Given the description of an element on the screen output the (x, y) to click on. 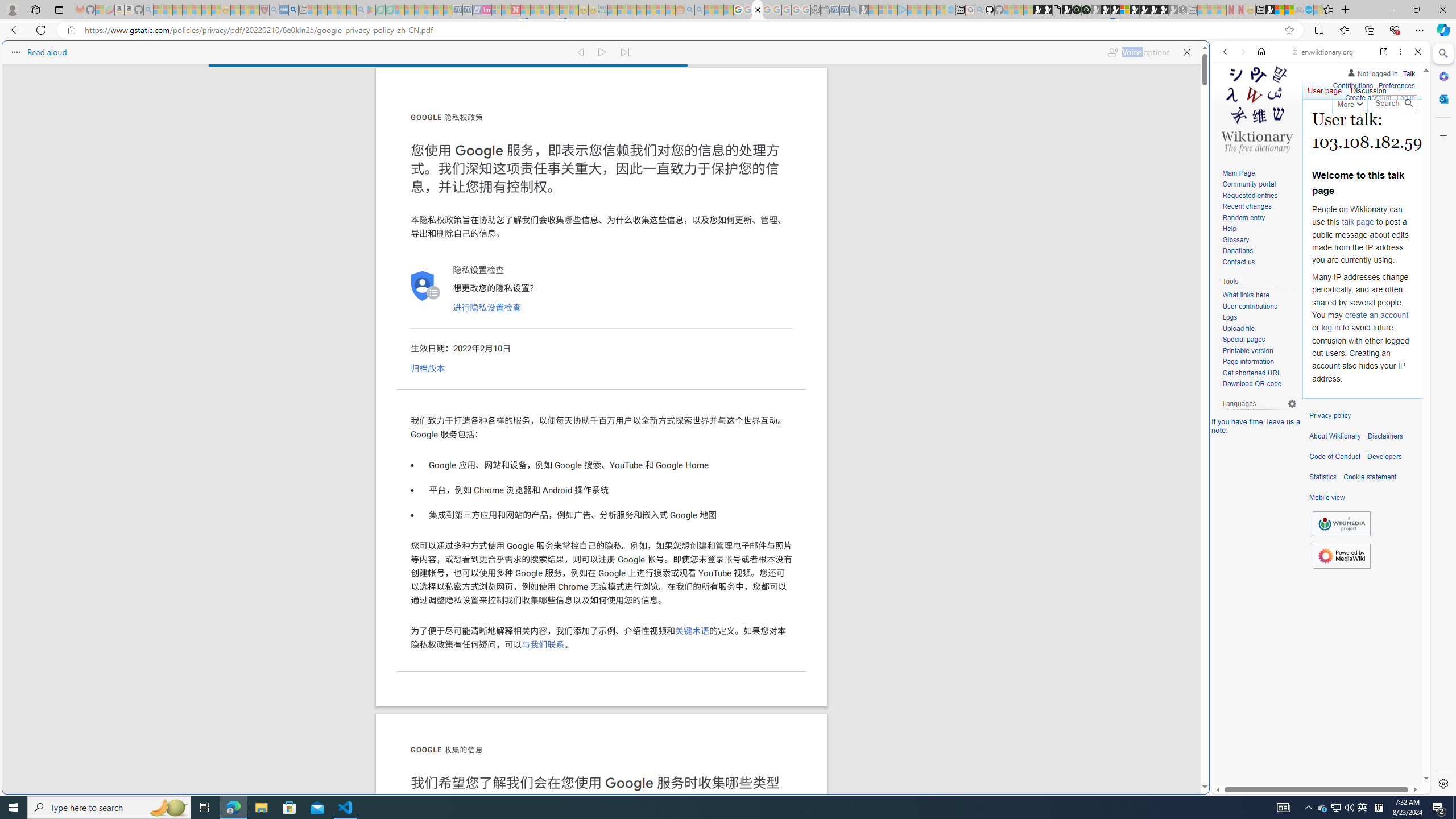
Read next paragraph (624, 49)
Donations (1259, 251)
AutomationID: footer-poweredbyico (1341, 555)
Contact us (1238, 261)
Help (1228, 228)
Home | Sky Blue Bikes - Sky Blue Bikes - Sleeping (950, 9)
Wikimedia Foundation (1341, 523)
Recent changes (1246, 206)
